Given the description of an element on the screen output the (x, y) to click on. 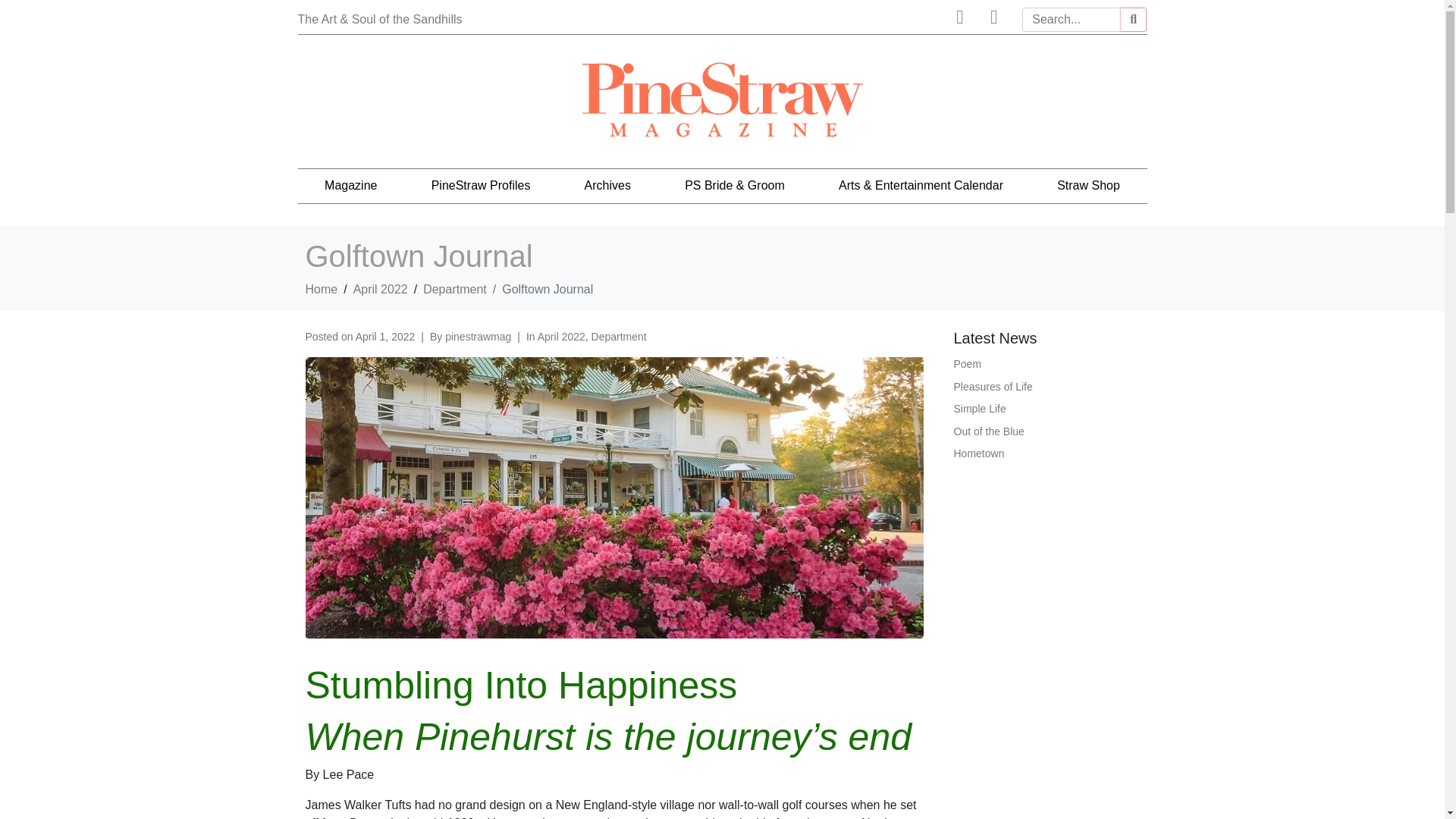
Home (320, 288)
Archives (607, 185)
PineStraw Profiles (480, 185)
April 2022 (380, 288)
Magazine (350, 185)
Department (618, 336)
Magazine (350, 185)
pinestrawmag (478, 336)
Department (454, 288)
Straw Shop (1088, 185)
